Given the description of an element on the screen output the (x, y) to click on. 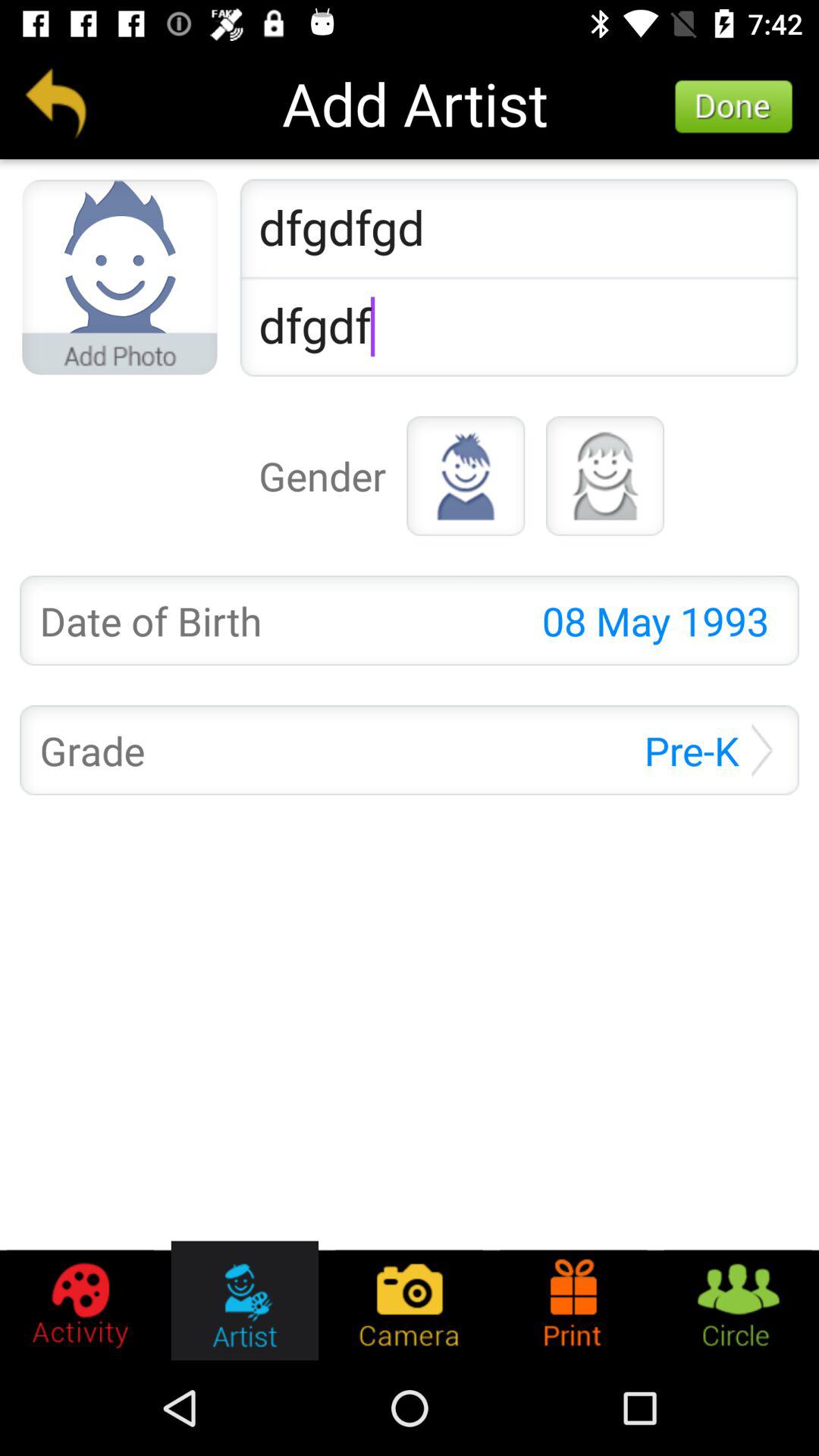
select the item next to add artist item (55, 103)
